Given the description of an element on the screen output the (x, y) to click on. 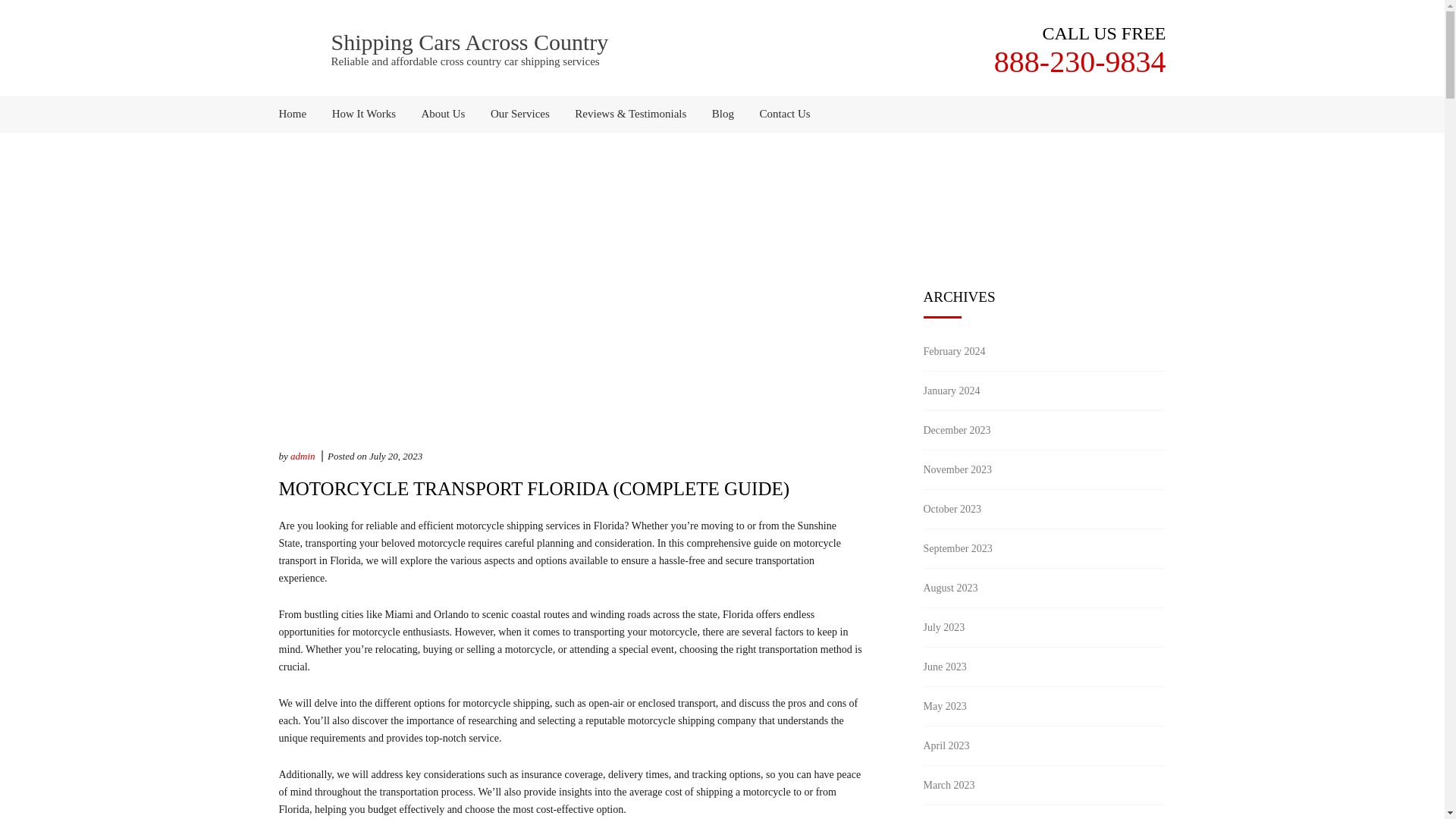
Posts by admin (302, 455)
Our Services (519, 114)
How It Works (363, 114)
Shipping Cars Across Country (469, 42)
About Us (443, 114)
Blog (722, 114)
admin (302, 455)
888-230-9834 (1080, 61)
Contact Us (779, 114)
Home (298, 114)
